Given the description of an element on the screen output the (x, y) to click on. 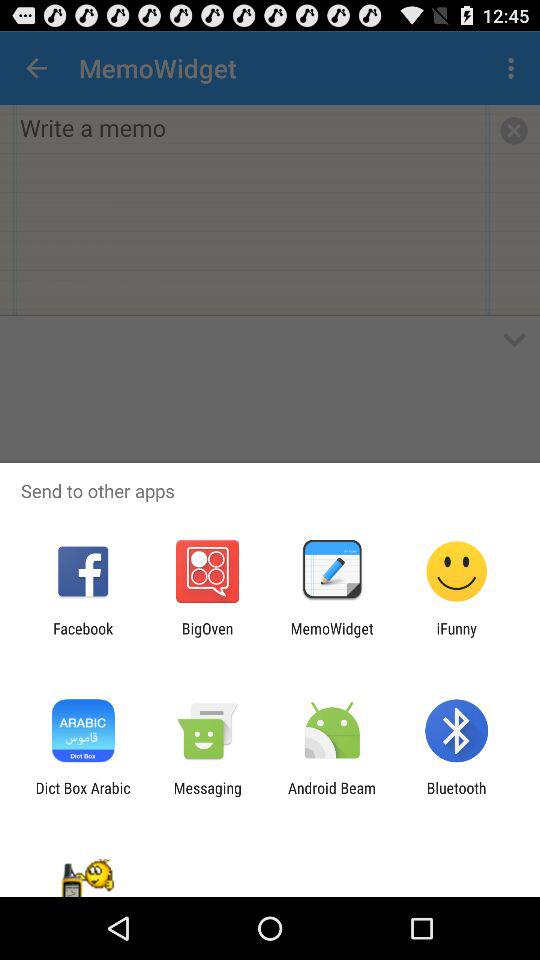
flip until the bluetooth app (456, 796)
